Given the description of an element on the screen output the (x, y) to click on. 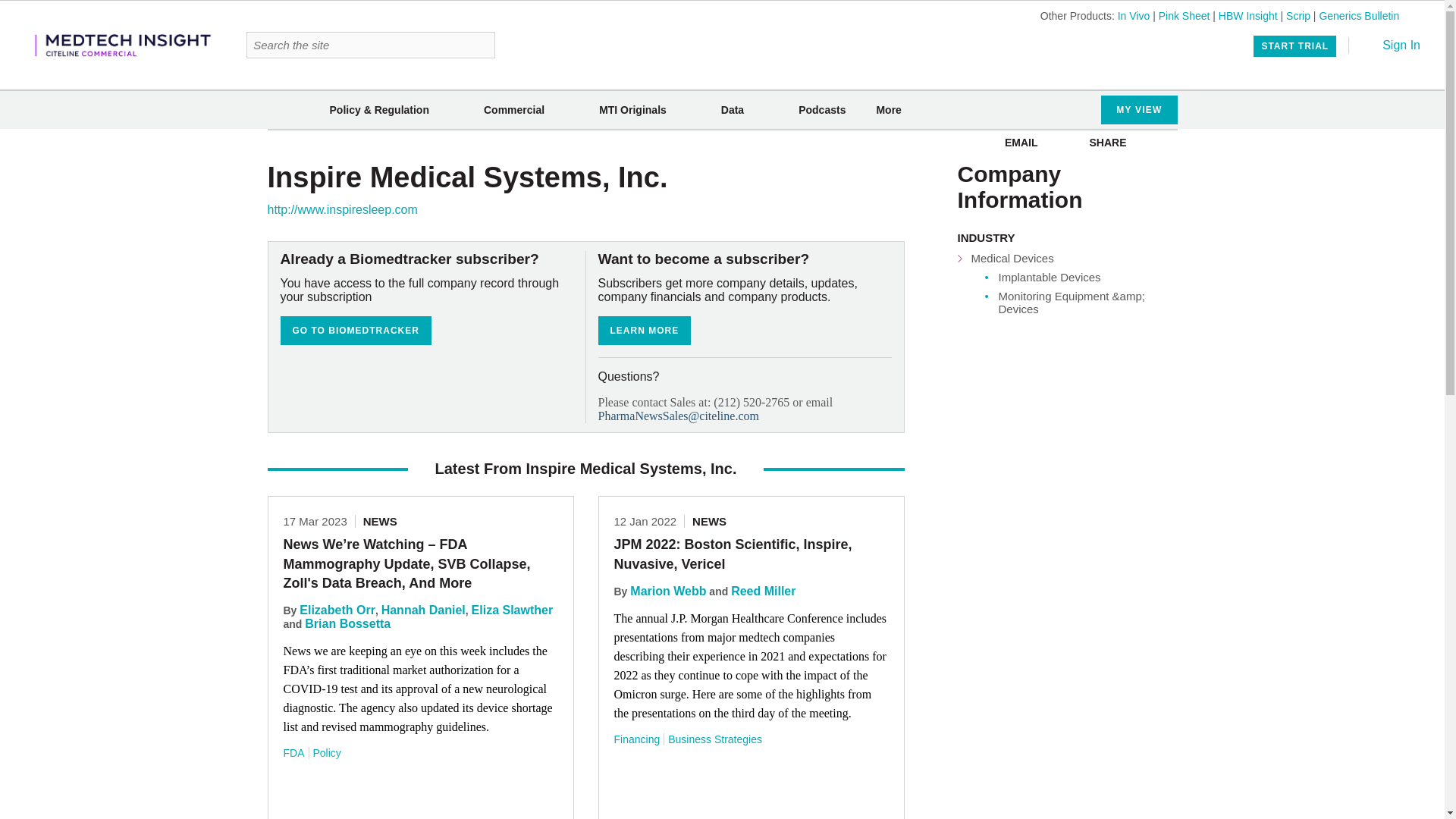
START TRIAL (1294, 46)
In Vivo (1134, 15)
Commercial (513, 110)
Sign In (1391, 44)
Pink Sheet (1183, 15)
Scrip (1297, 15)
HBW Insight (1248, 15)
Generics Bulletin (1359, 15)
